Given the description of an element on the screen output the (x, y) to click on. 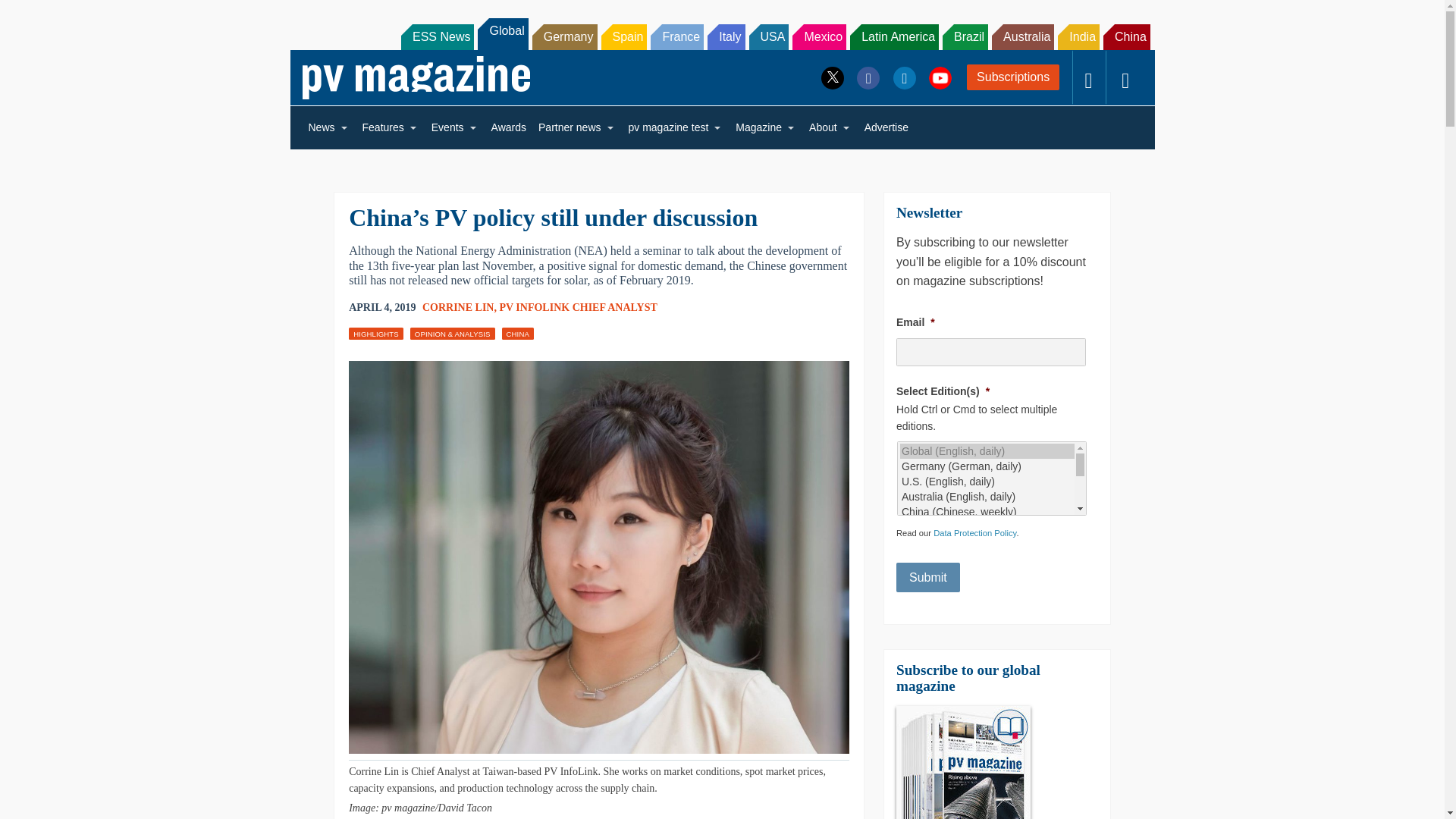
Australia (1022, 36)
Spain (622, 36)
India (1078, 36)
Germany (564, 36)
Latin America (894, 36)
Search (32, 15)
Submit (927, 577)
Global (502, 33)
ESS News (437, 36)
pv magazine - Photovoltaics Markets and Technology (415, 77)
